Given the description of an element on the screen output the (x, y) to click on. 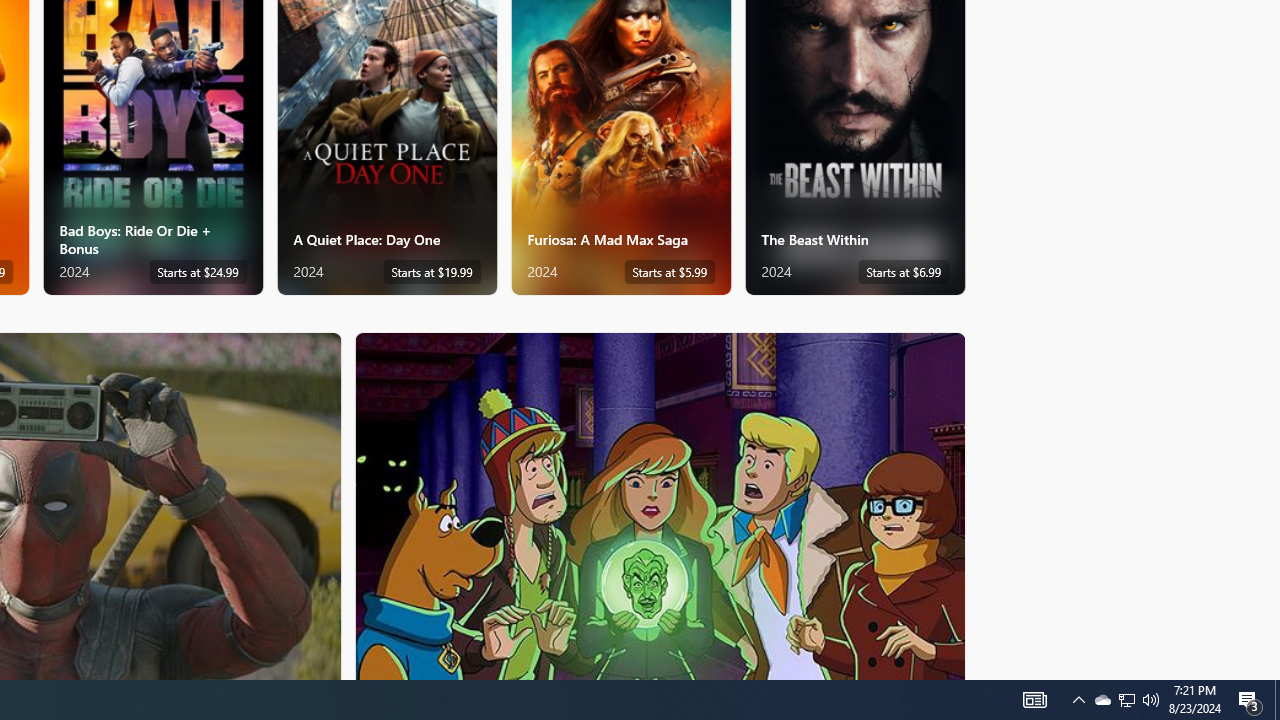
AutomationID: PosterImage (658, 505)
Family (660, 505)
